Given the description of an element on the screen output the (x, y) to click on. 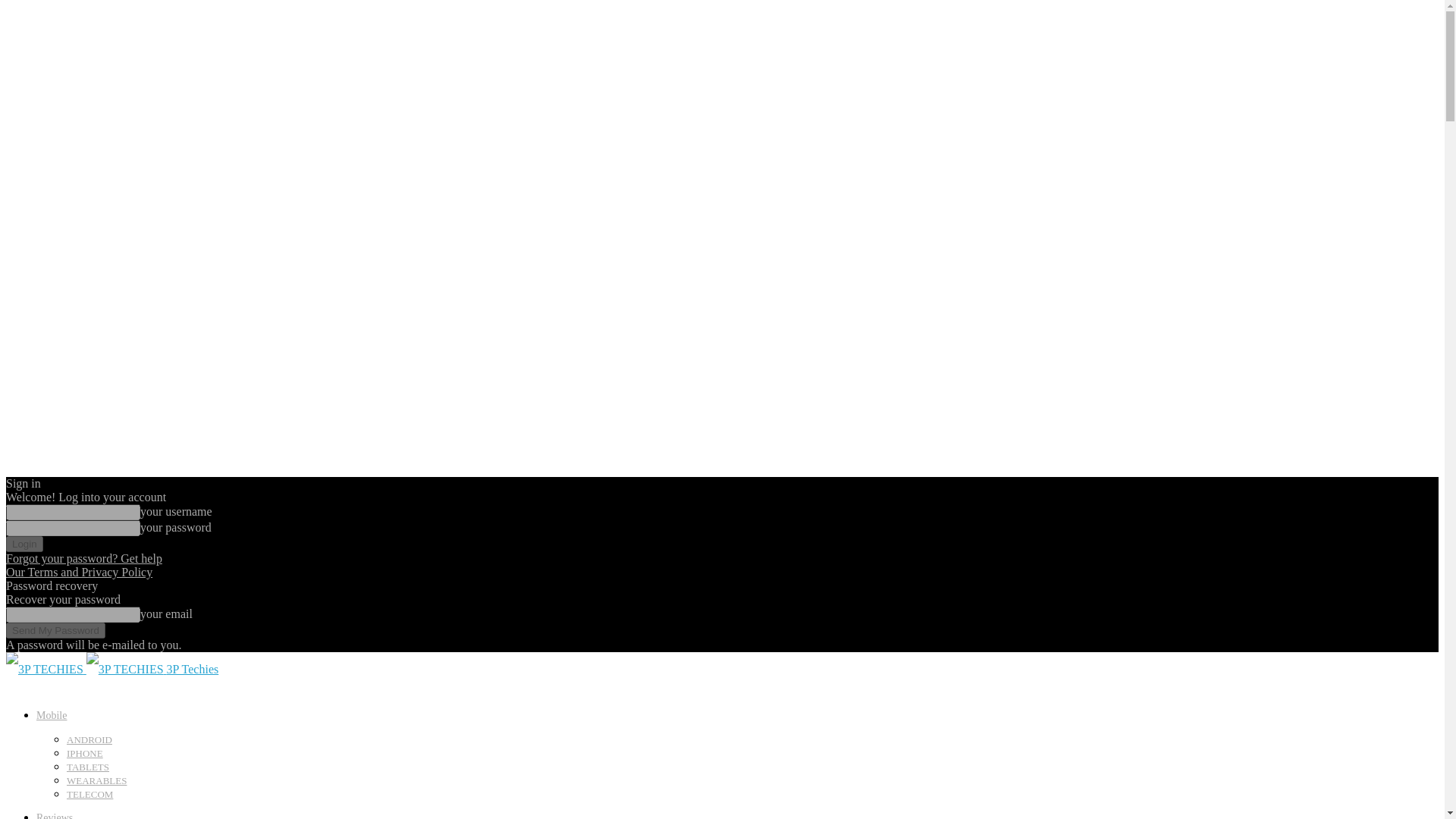
Login (24, 544)
Forgot your password? Get help (83, 558)
Send My Password (54, 630)
